Given the description of an element on the screen output the (x, y) to click on. 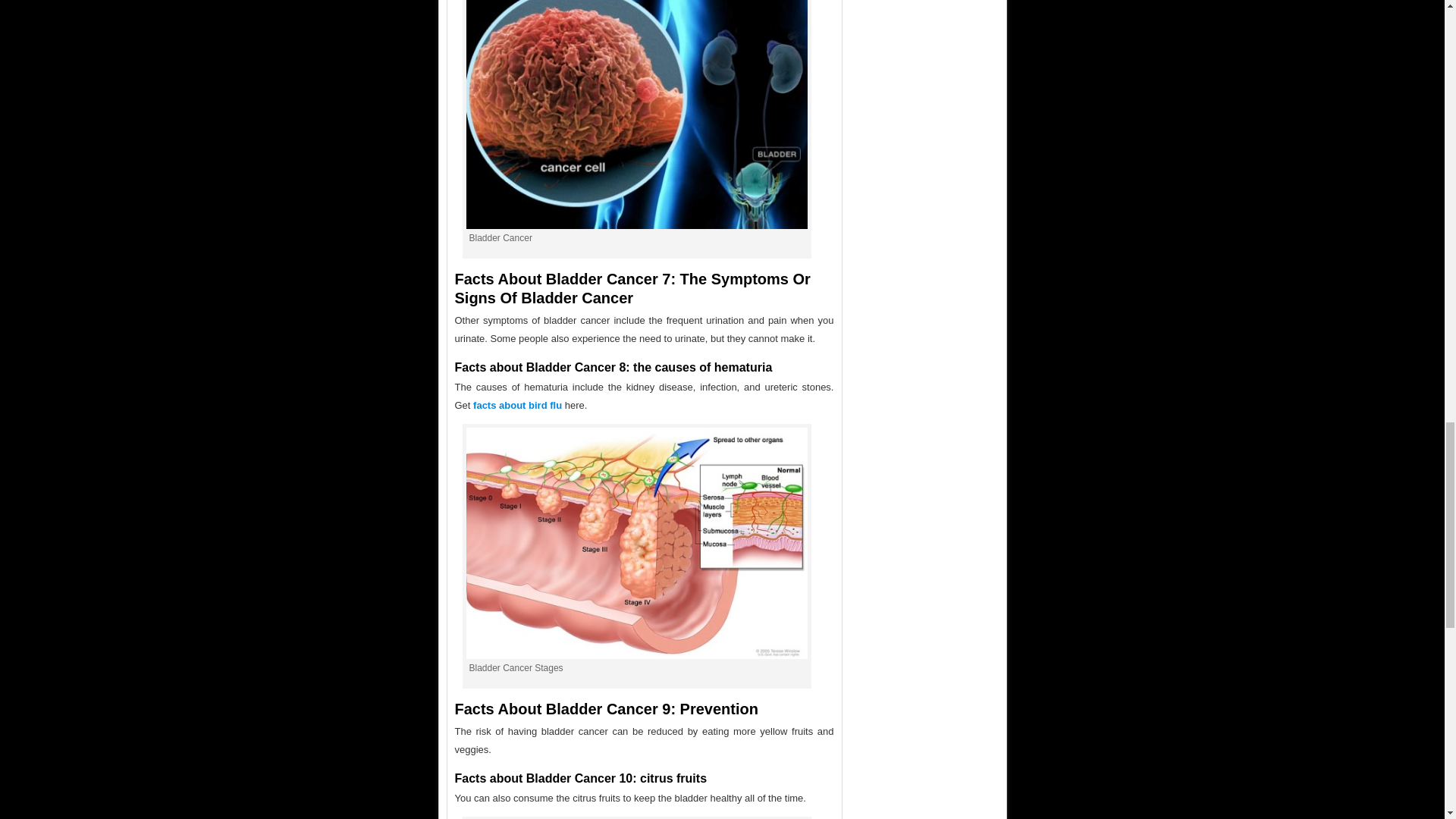
facts about bird flu (517, 405)
